Given the description of an element on the screen output the (x, y) to click on. 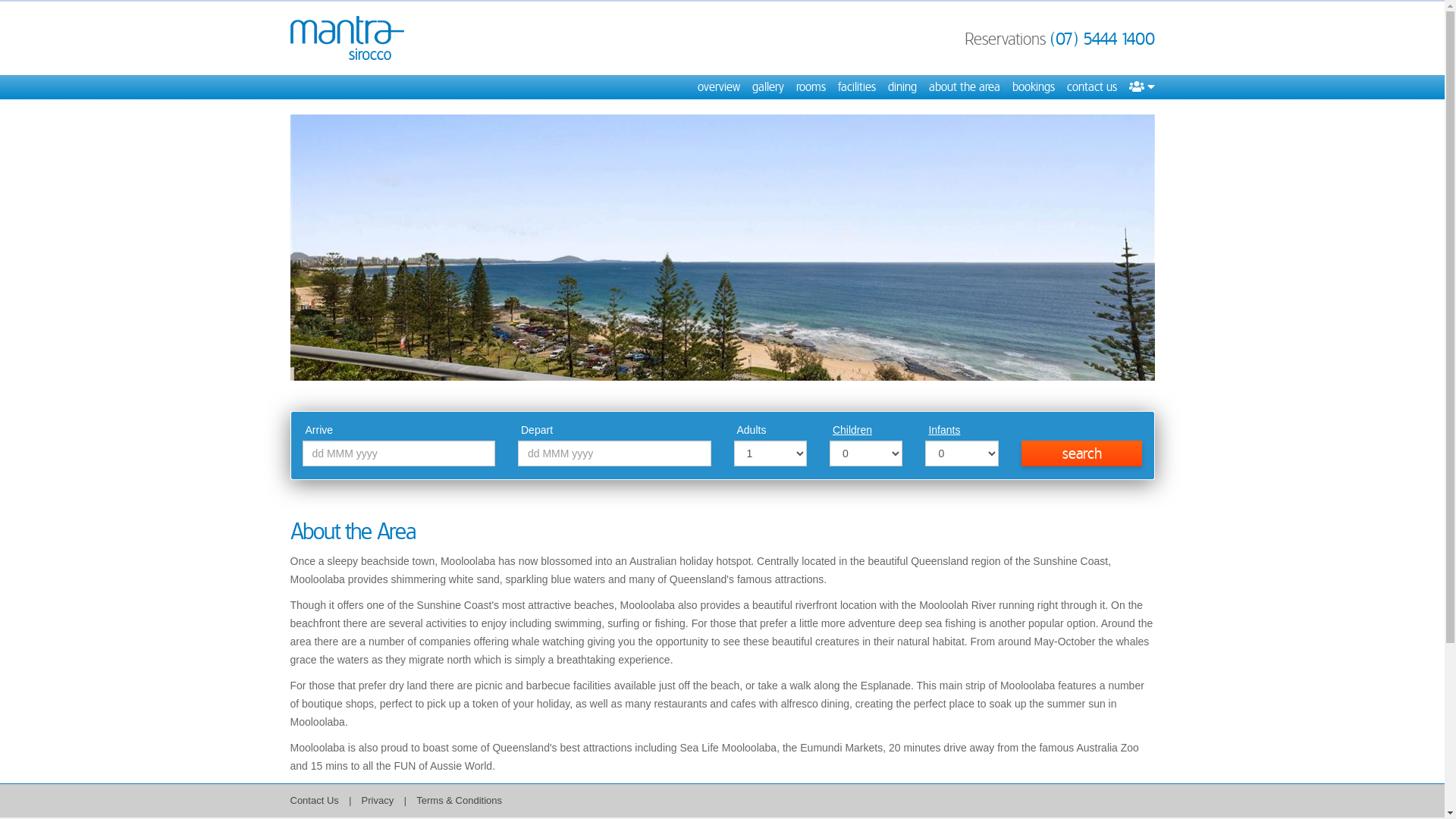
overview Element type: text (718, 87)
facilities Element type: text (856, 87)
Mantra Sirocco Element type: hover (346, 37)
rooms Element type: text (810, 87)
Privacy Element type: text (378, 800)
2 Bedroom Apartment - Mantra Sirocco Element type: hover (721, 247)
(07) 5444 1400 Element type: text (1101, 38)
search Element type: text (1081, 453)
bookings Element type: text (1032, 87)
Contact Us Element type: text (313, 800)
contact us Element type: text (1091, 87)
Terms & Conditions Element type: text (459, 800)
dining Element type: text (901, 87)
gallery Element type: text (768, 87)
about the area Element type: text (963, 87)
